Given the description of an element on the screen output the (x, y) to click on. 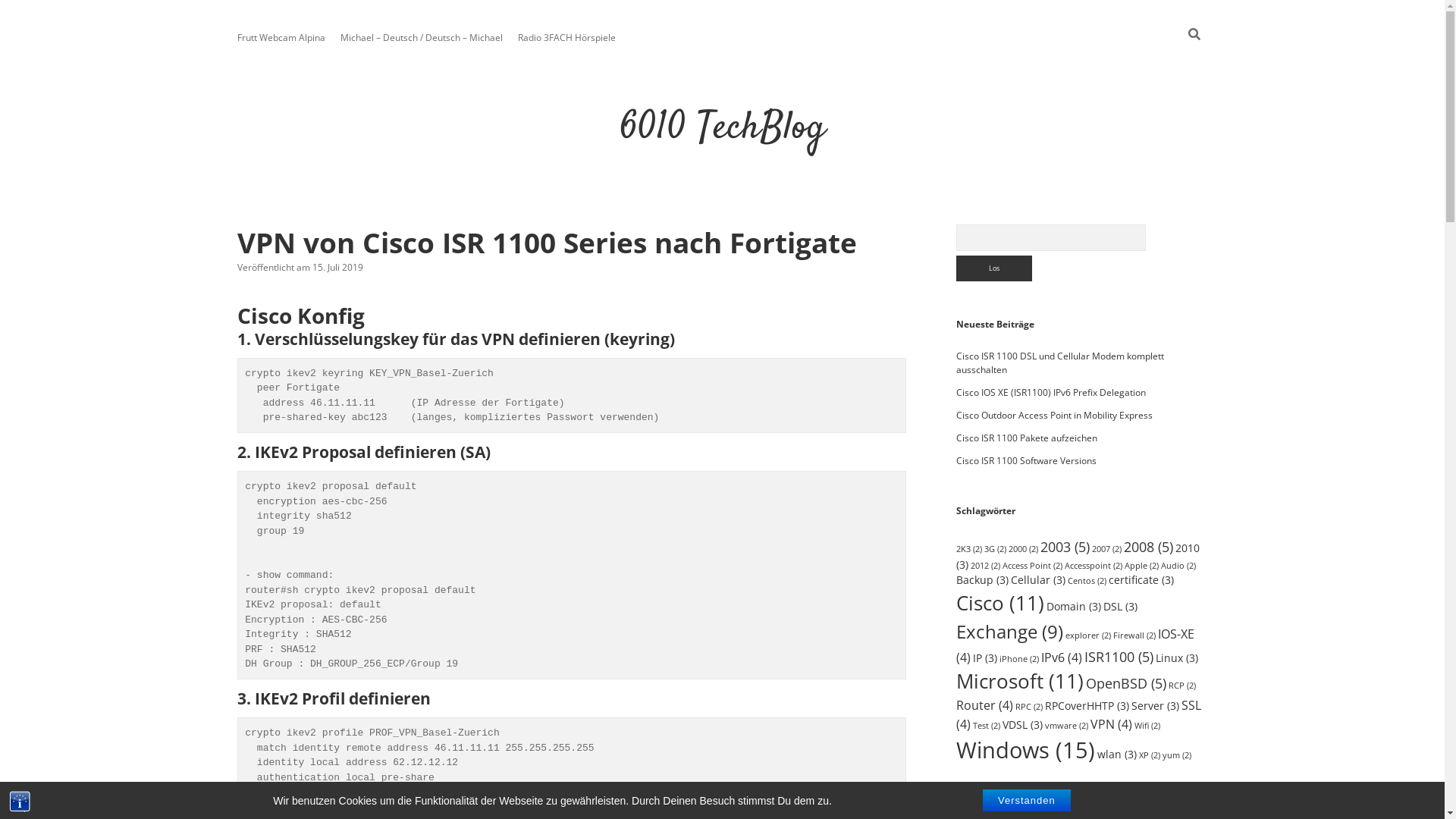
Cisco IOS XE (ISR1100) IPv6 Prefix Delegation Element type: text (1050, 391)
Accesspoint (2) Element type: text (1093, 565)
SSL (4) Element type: text (1078, 714)
IOS-XE (4) Element type: text (1075, 645)
- Element type: text (1082, 800)
Cisco ISR 1100 DSL und Cellular Modem komplett ausschalten Element type: text (1060, 362)
Audio (2) Element type: text (1178, 565)
IP (3) Element type: text (984, 657)
RPCoverHHTP (3) Element type: text (1086, 705)
Router (4) Element type: text (984, 704)
yum (2) Element type: text (1176, 754)
certificate (3) Element type: text (1140, 579)
2007 (2) Element type: text (1106, 548)
2010 (3) Element type: text (1077, 555)
Test (2) Element type: text (986, 725)
Linux (3) Element type: text (1176, 657)
Exchange (9) Element type: text (1009, 630)
6010 TechBlog Element type: text (722, 128)
Microsoft (11) Element type: text (1019, 680)
RCP (2) Element type: text (1181, 685)
RPC (2) Element type: text (1028, 706)
Cisco ISR 1100 Software Versions Element type: text (1026, 460)
OpenBSD (5) Element type: text (1125, 682)
Cisco ISR 1100 Pakete aufzeichen Element type: text (1026, 437)
Verstanden Element type: text (1026, 800)
Cellular (3) Element type: text (1037, 579)
IPv6 (4) Element type: text (1061, 657)
VPN (4) Element type: text (1111, 723)
2008 (5) Element type: text (1148, 545)
DSL (3) Element type: text (1120, 606)
Cisco (11) Element type: text (1000, 602)
Suche nach: Element type: hover (1050, 237)
2012 (2) Element type: text (985, 565)
Cisco Outdoor Access Point in Mobility Express Element type: text (1054, 414)
Server (3) Element type: text (1155, 705)
ISR1100 (5) Element type: text (1118, 655)
2000 (2) Element type: text (1023, 548)
Centos (2) Element type: text (1086, 580)
Apple (2) Element type: text (1141, 565)
wlan (3) Element type: text (1116, 753)
Domain (3) Element type: text (1073, 606)
explorer (2) Element type: text (1087, 635)
Frutt Webcam Alpina Element type: text (280, 37)
2K3 (2) Element type: text (969, 548)
2003 (5) Element type: text (1064, 545)
XP (2) Element type: text (1149, 754)
3G (2) Element type: text (995, 548)
Verstanden Element type: text (1026, 800)
VDSL (3) Element type: text (1022, 724)
vmware (2) Element type: text (1066, 725)
Los Element type: text (994, 268)
Windows (15) Element type: text (1025, 749)
Wifi (2) Element type: text (1147, 725)
Access Point (2) Element type: text (1032, 565)
iPhone (2) Element type: text (1018, 658)
Backup (3) Element type: text (982, 579)
Firewall (2) Element type: text (1134, 635)
